Given the description of an element on the screen output the (x, y) to click on. 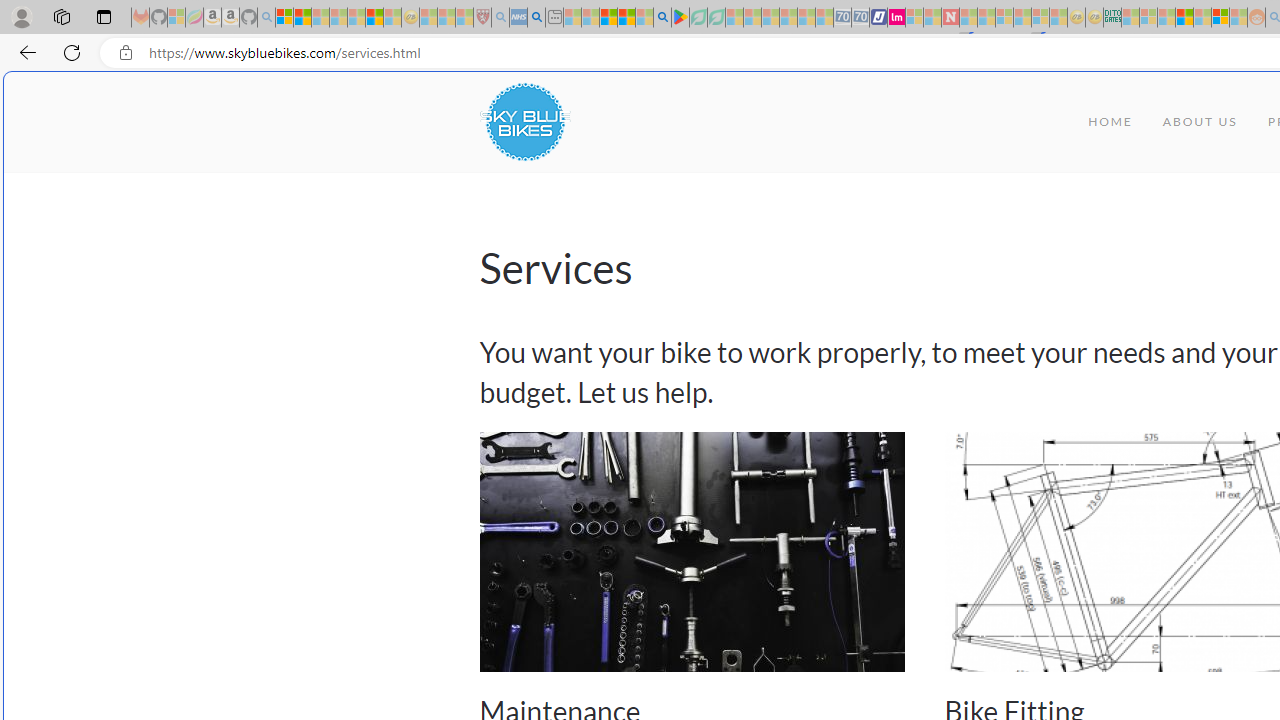
ABOUT US (1199, 122)
HOME (1110, 122)
